Given the description of an element on the screen output the (x, y) to click on. 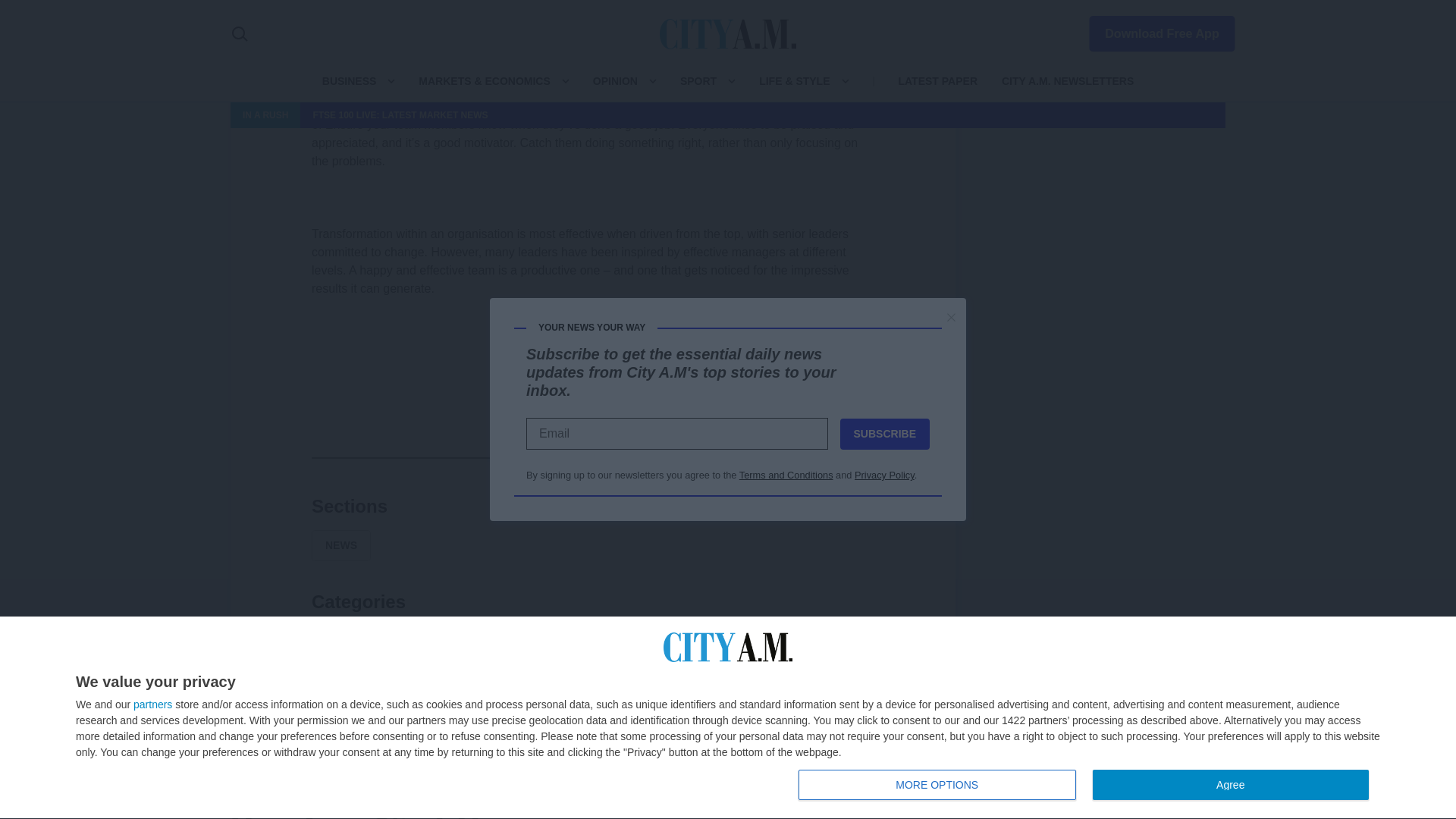
WhatsApp (629, 457)
Email (665, 457)
Facebook (520, 457)
X (556, 457)
LinkedIn (592, 457)
